Given the description of an element on the screen output the (x, y) to click on. 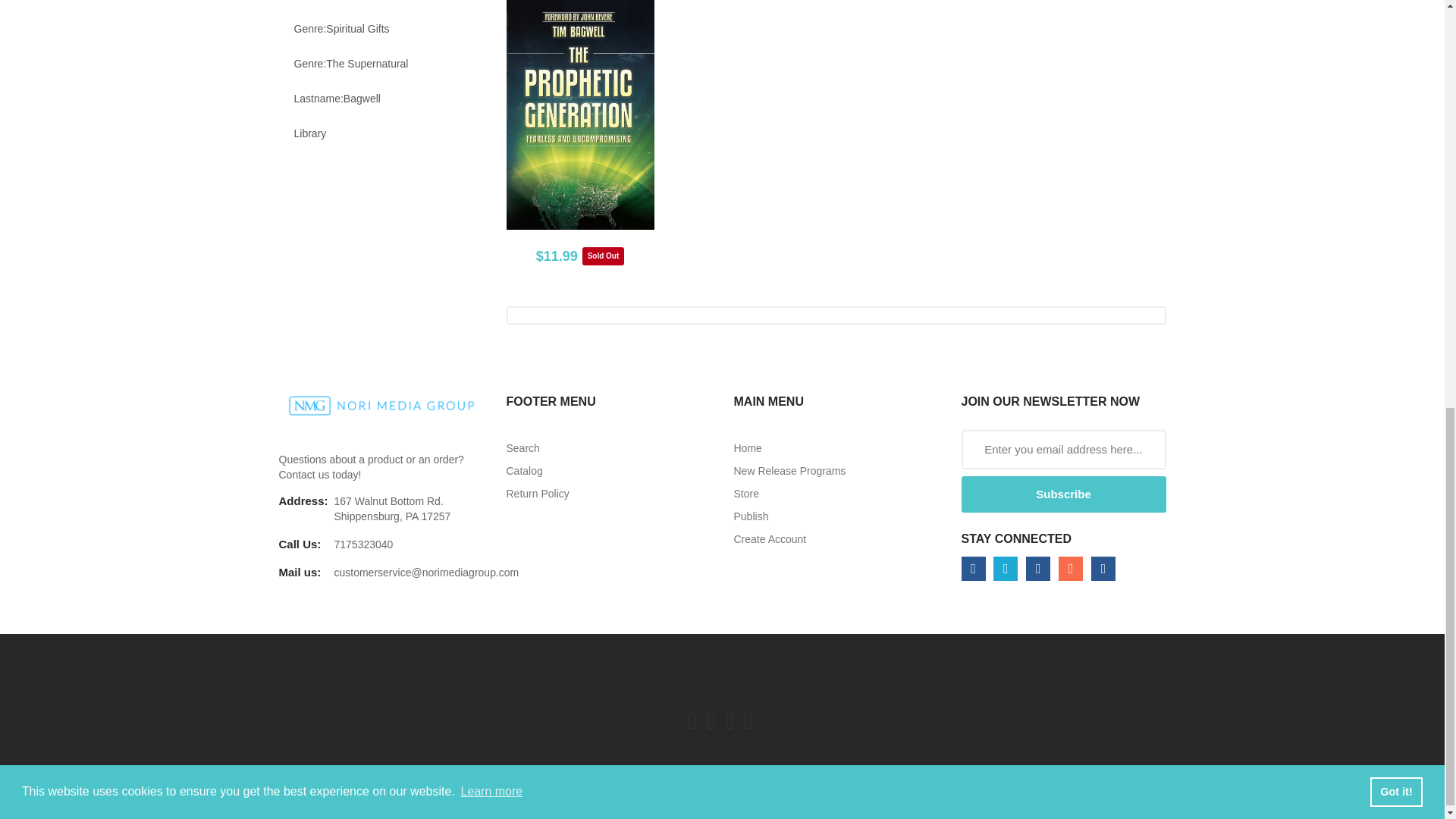
Show products matching tag genre:Spiritual Gifts (381, 28)
Show products matching tag Library (381, 133)
Show products matching tag author:Timothy Bagwell (381, 5)
Show products matching tag genre:The Supernatural (381, 63)
Show products matching tag lastname:Bagwell (381, 98)
